Given the description of an element on the screen output the (x, y) to click on. 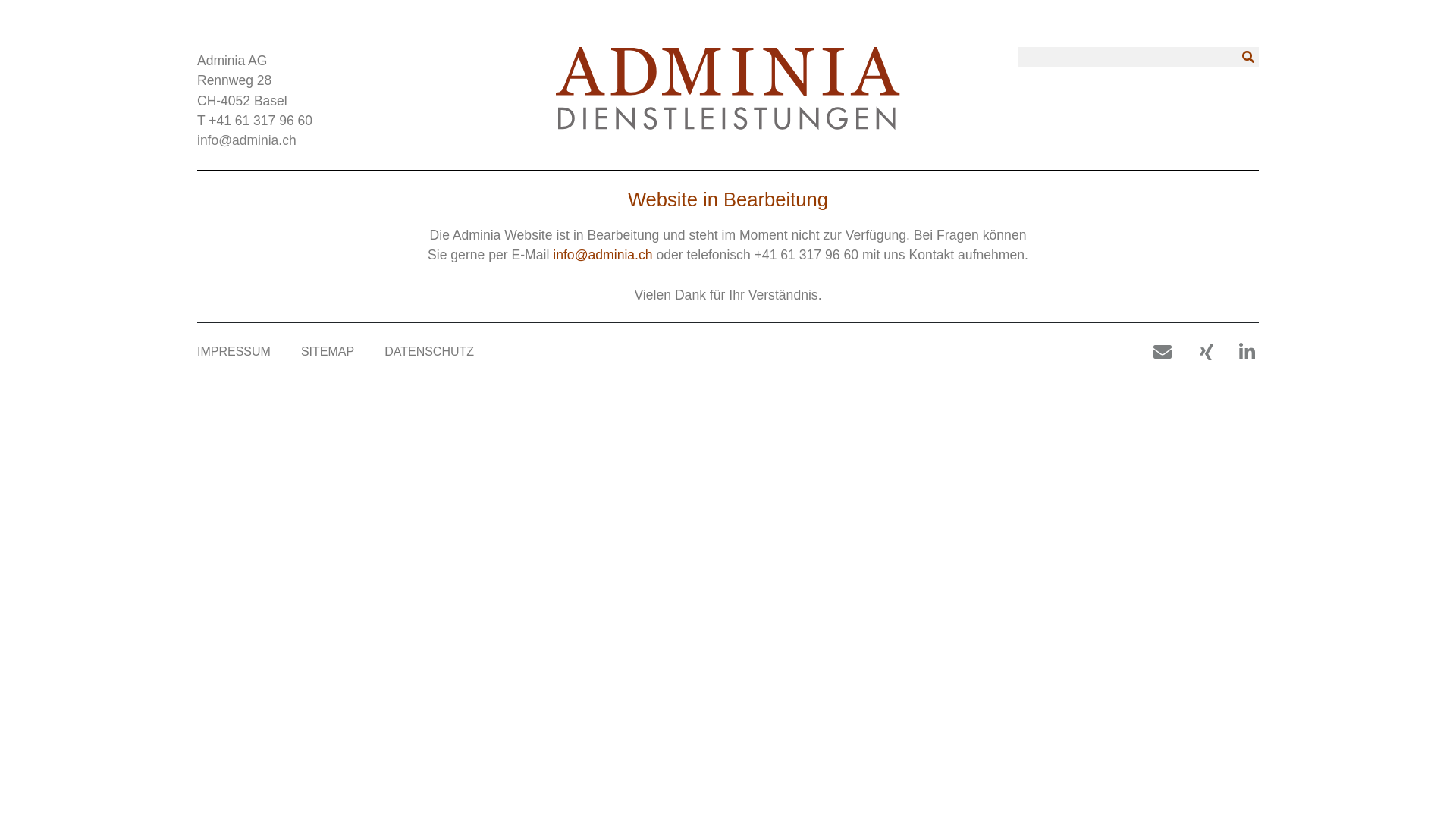
info@adminia.ch Element type: text (602, 254)
info@adminia.ch Element type: text (246, 139)
DATENSCHUTZ Element type: text (428, 351)
SITEMAP Element type: text (327, 351)
IMPRESSUM Element type: text (233, 351)
